Given the description of an element on the screen output the (x, y) to click on. 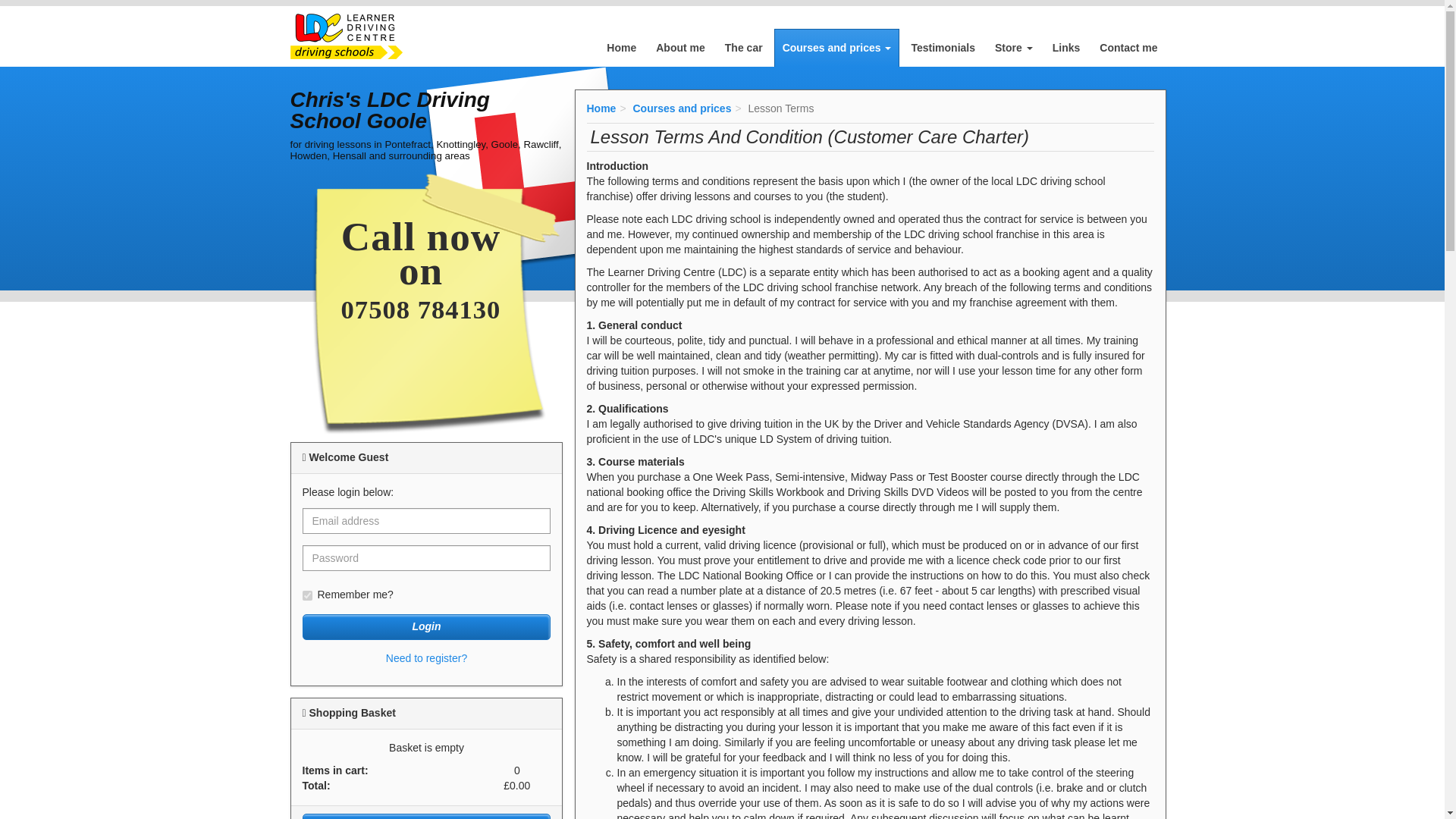
1 (306, 595)
Login (425, 626)
